Given the description of an element on the screen output the (x, y) to click on. 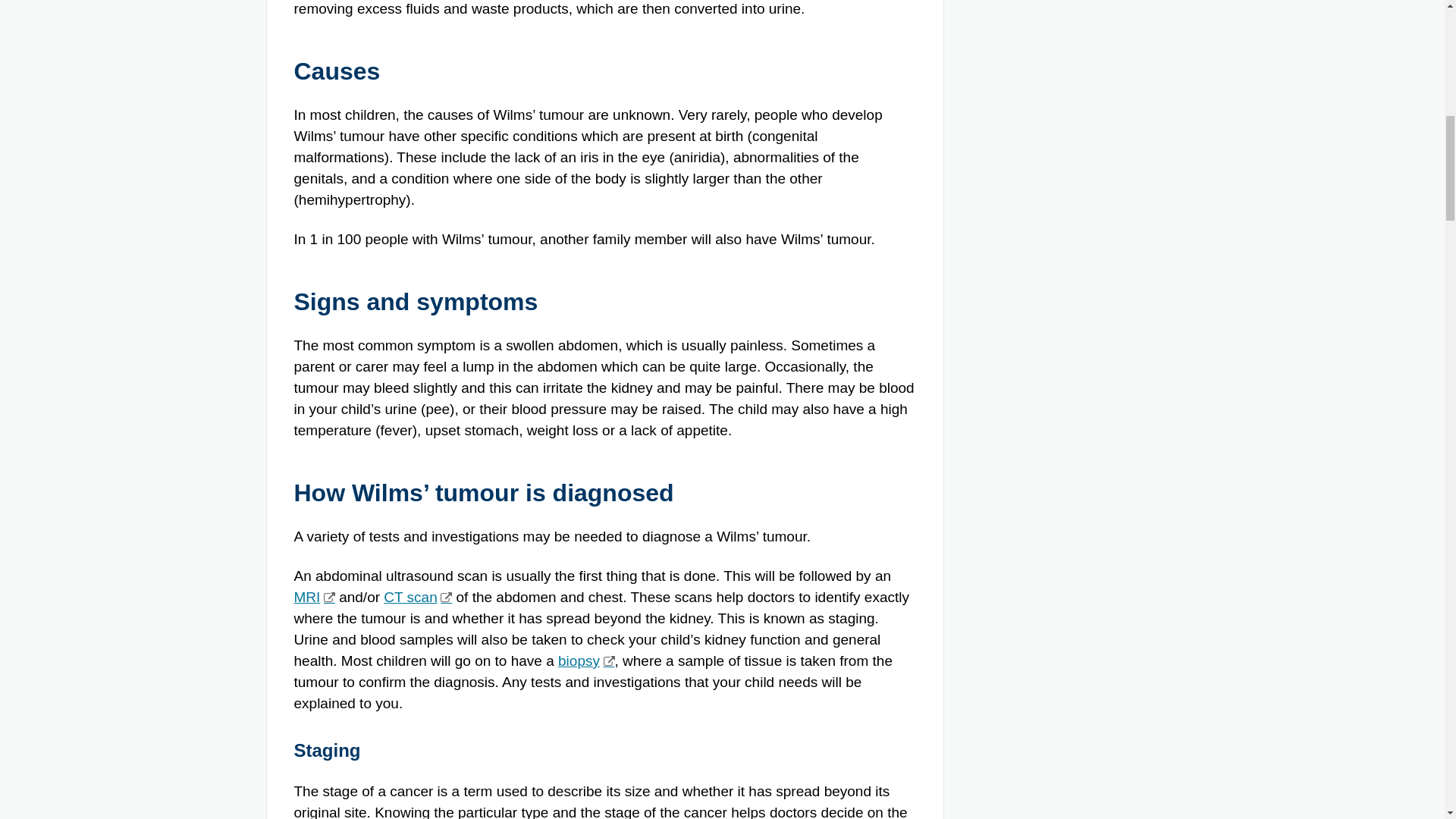
MRI scan (314, 596)
MRI (314, 596)
Biopsy (585, 660)
CT scan (417, 596)
CT scan (417, 596)
biopsy (585, 660)
